Given the description of an element on the screen output the (x, y) to click on. 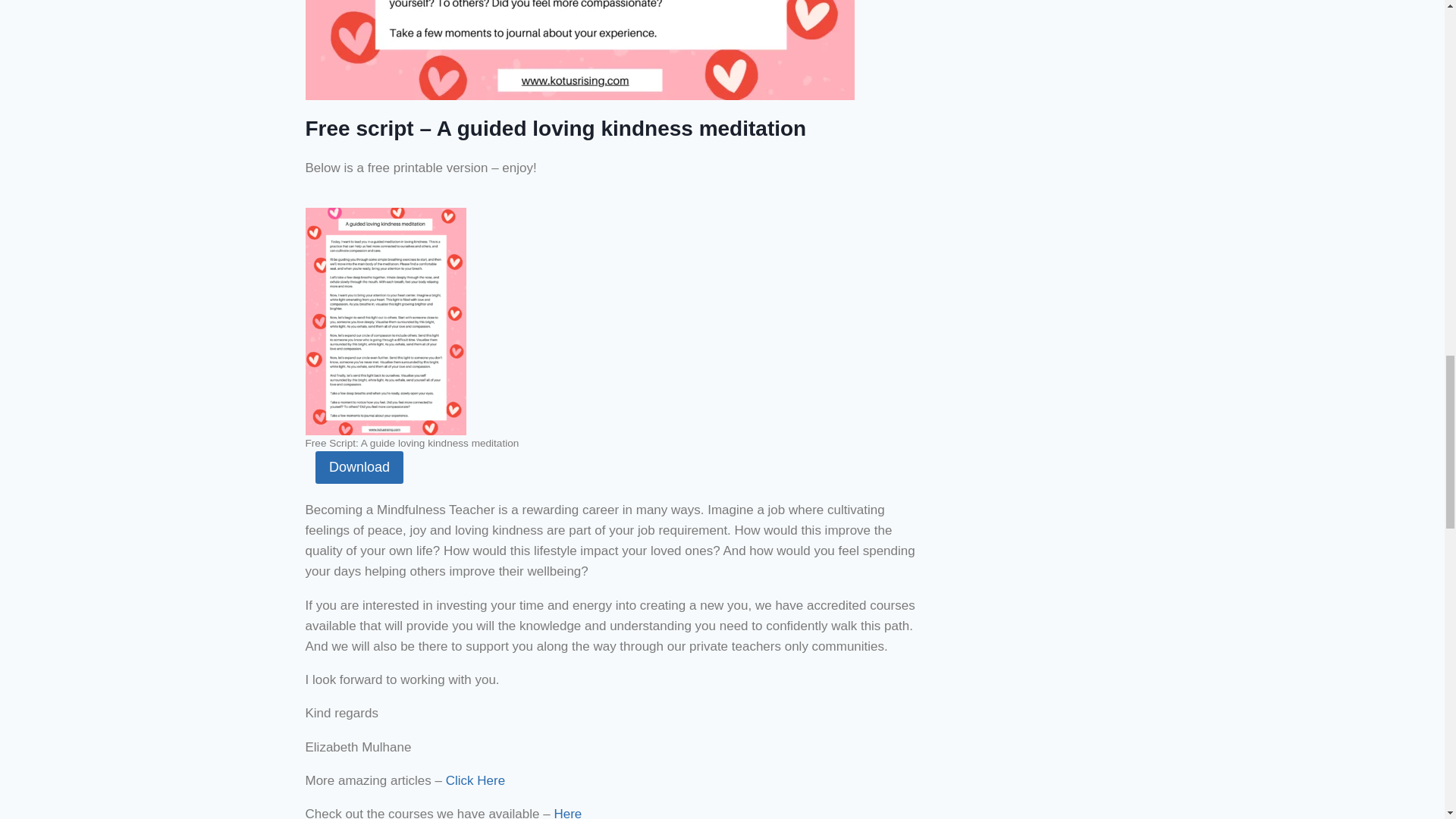
Download (359, 467)
Here (566, 812)
Click Here (475, 780)
